Given the description of an element on the screen output the (x, y) to click on. 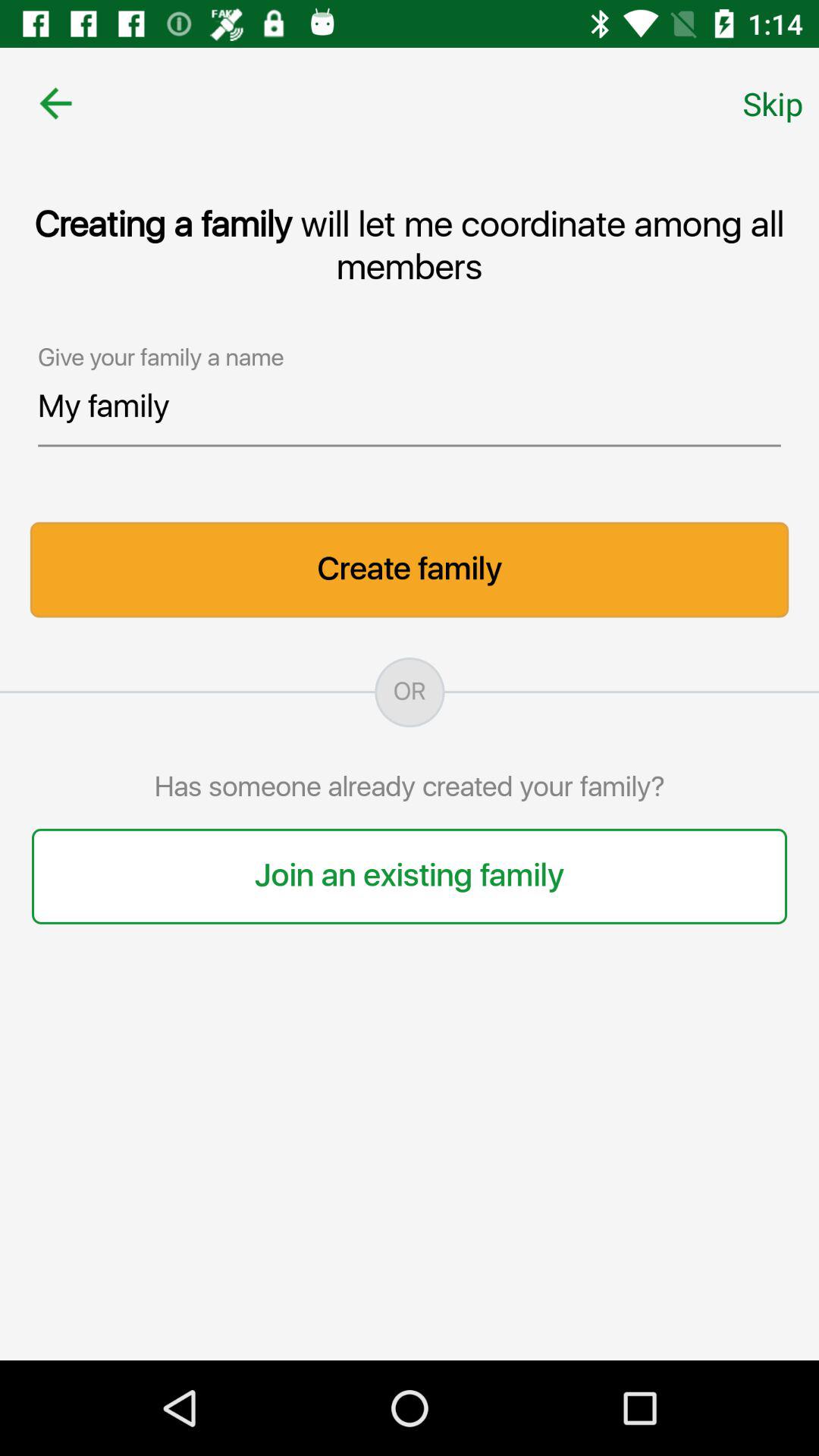
open the join an existing icon (409, 876)
